Given the description of an element on the screen output the (x, y) to click on. 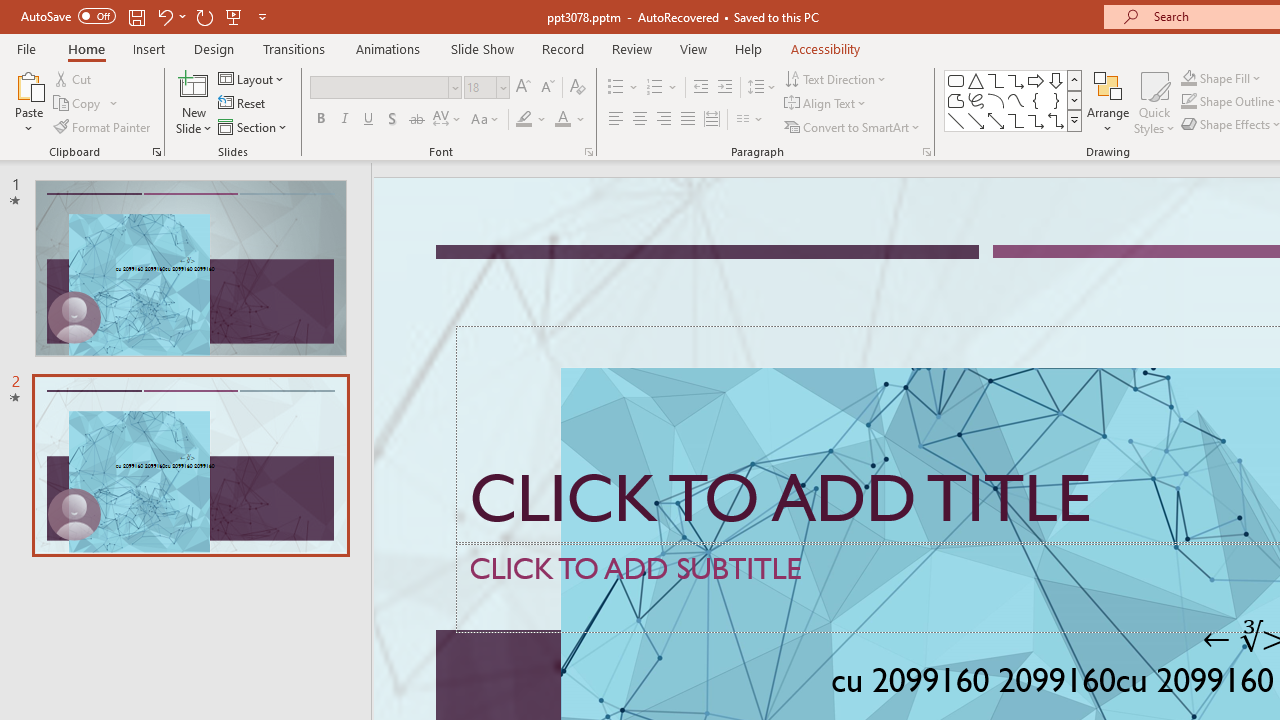
Connector: Elbow Double-Arrow (1055, 120)
